Given the description of an element on the screen output the (x, y) to click on. 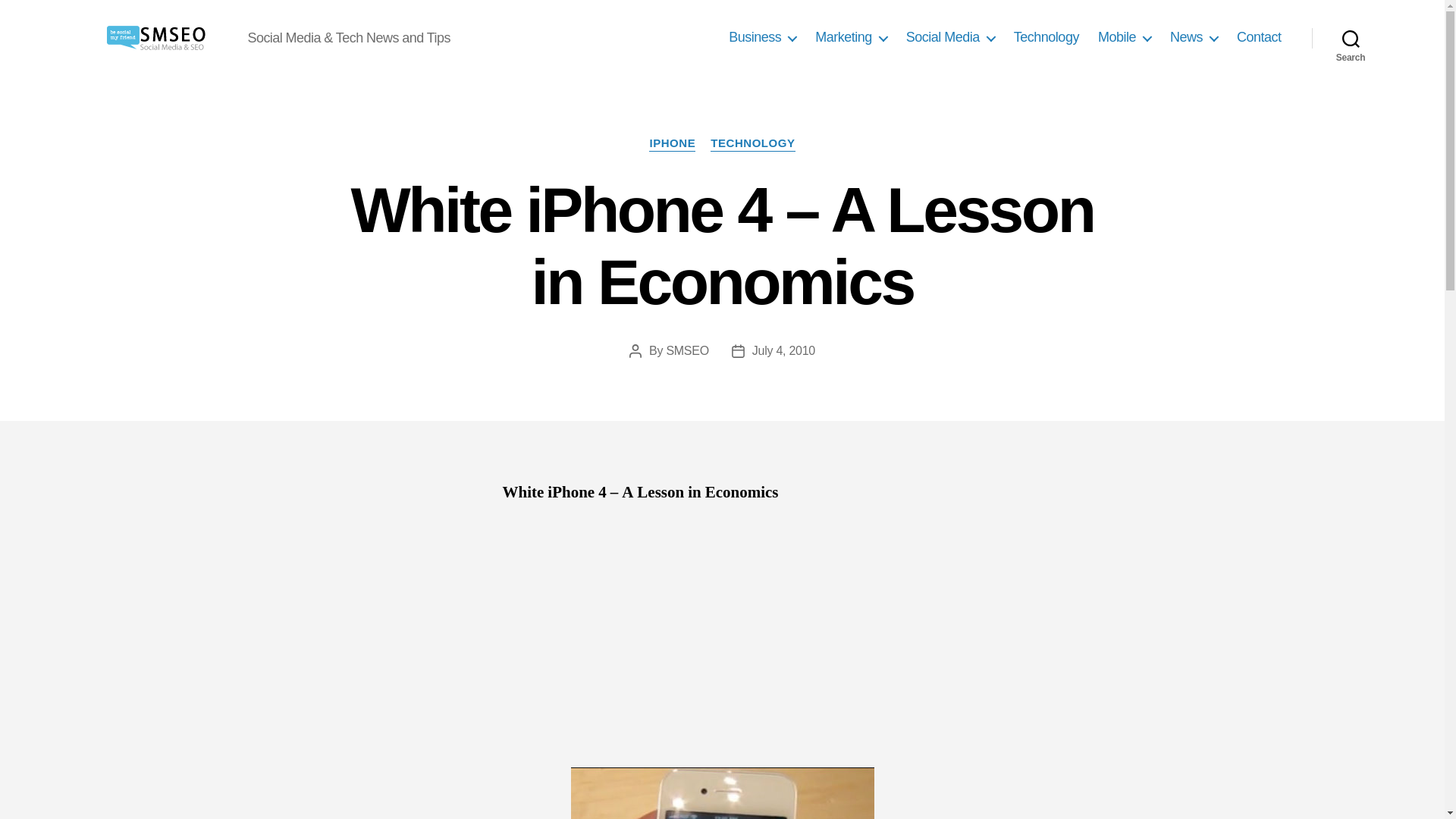
Technology (1045, 37)
Mobile (1124, 37)
Search (1350, 37)
Advertisement (722, 630)
Business (762, 37)
Marketing (850, 37)
White-Iphone-4 (721, 793)
Contact (1258, 37)
News (1193, 37)
Social Media (949, 37)
